Given the description of an element on the screen output the (x, y) to click on. 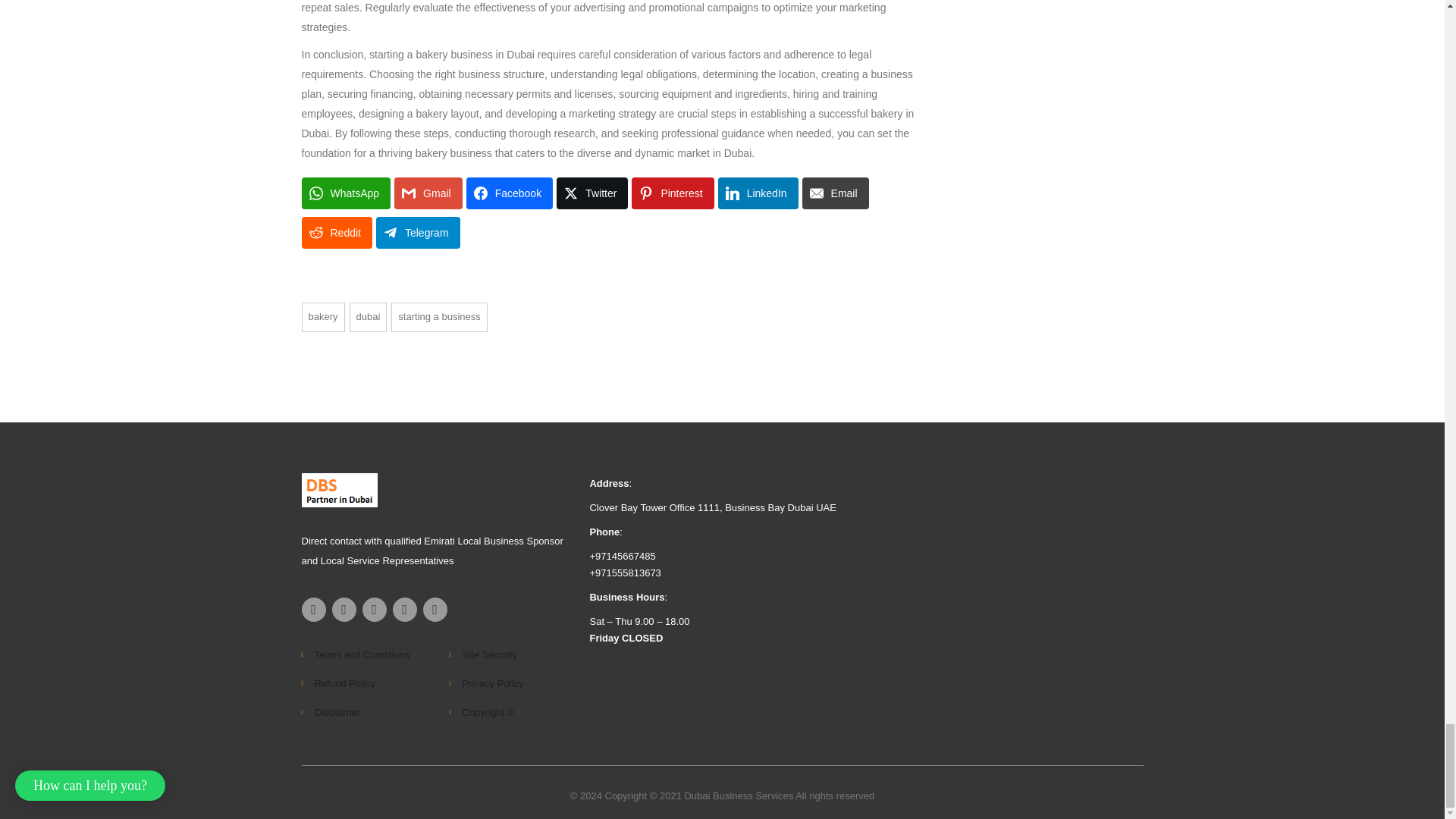
Share on Reddit (336, 232)
Share on Facebook (509, 193)
Twitter (591, 193)
WhatsApp (346, 193)
Share on Gmail (428, 193)
Email (835, 193)
Facebook (509, 193)
bakery (323, 317)
Gmail (428, 193)
Pinterest (672, 193)
